Given the description of an element on the screen output the (x, y) to click on. 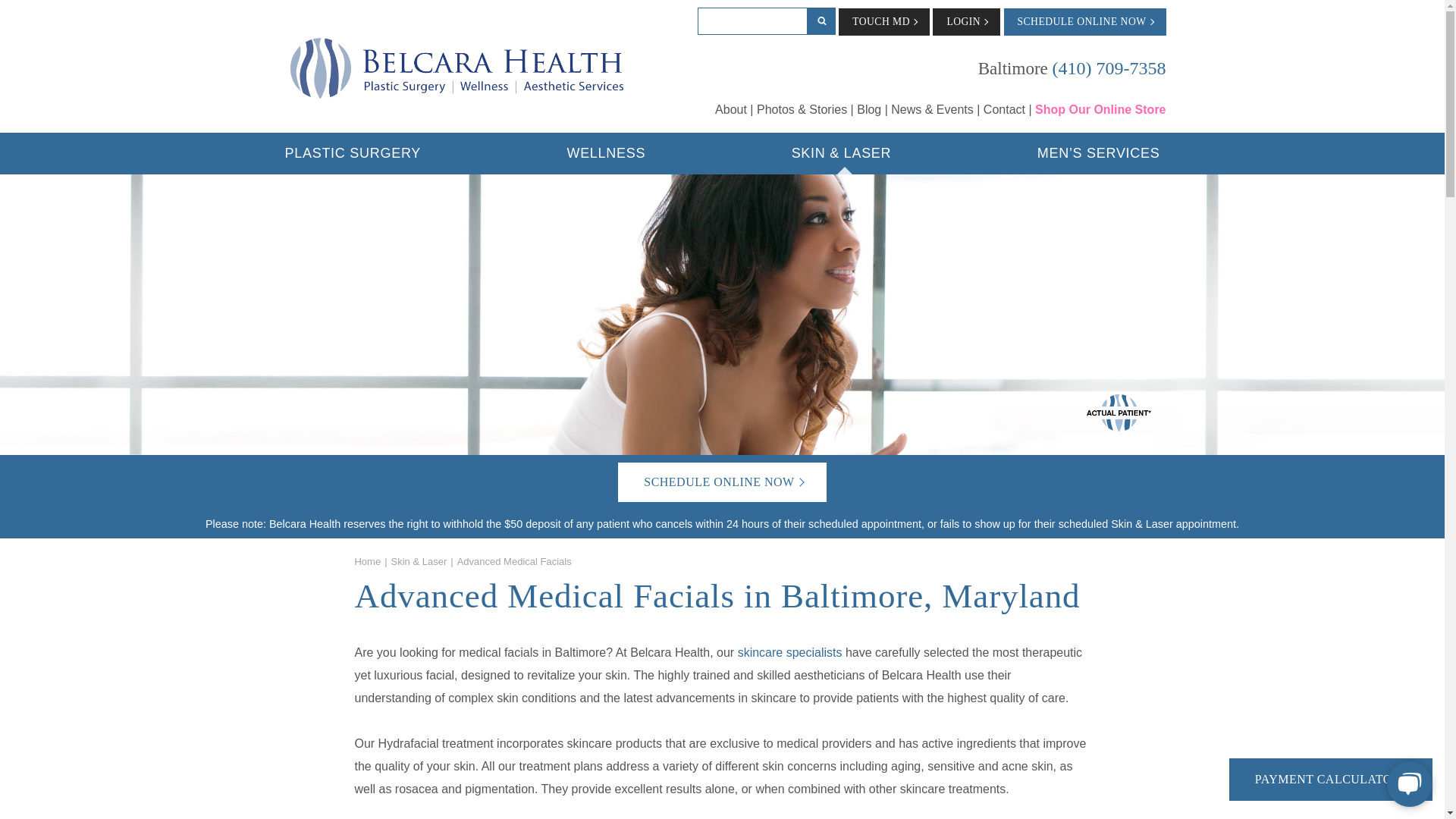
TOUCH MD (884, 22)
Contact (1008, 109)
LOGIN (966, 22)
Shop Our Online Store (1100, 109)
PLASTIC SURGERY (353, 153)
SCHEDULE ONLINE NOW (1085, 22)
About (733, 109)
